Given the description of an element on the screen output the (x, y) to click on. 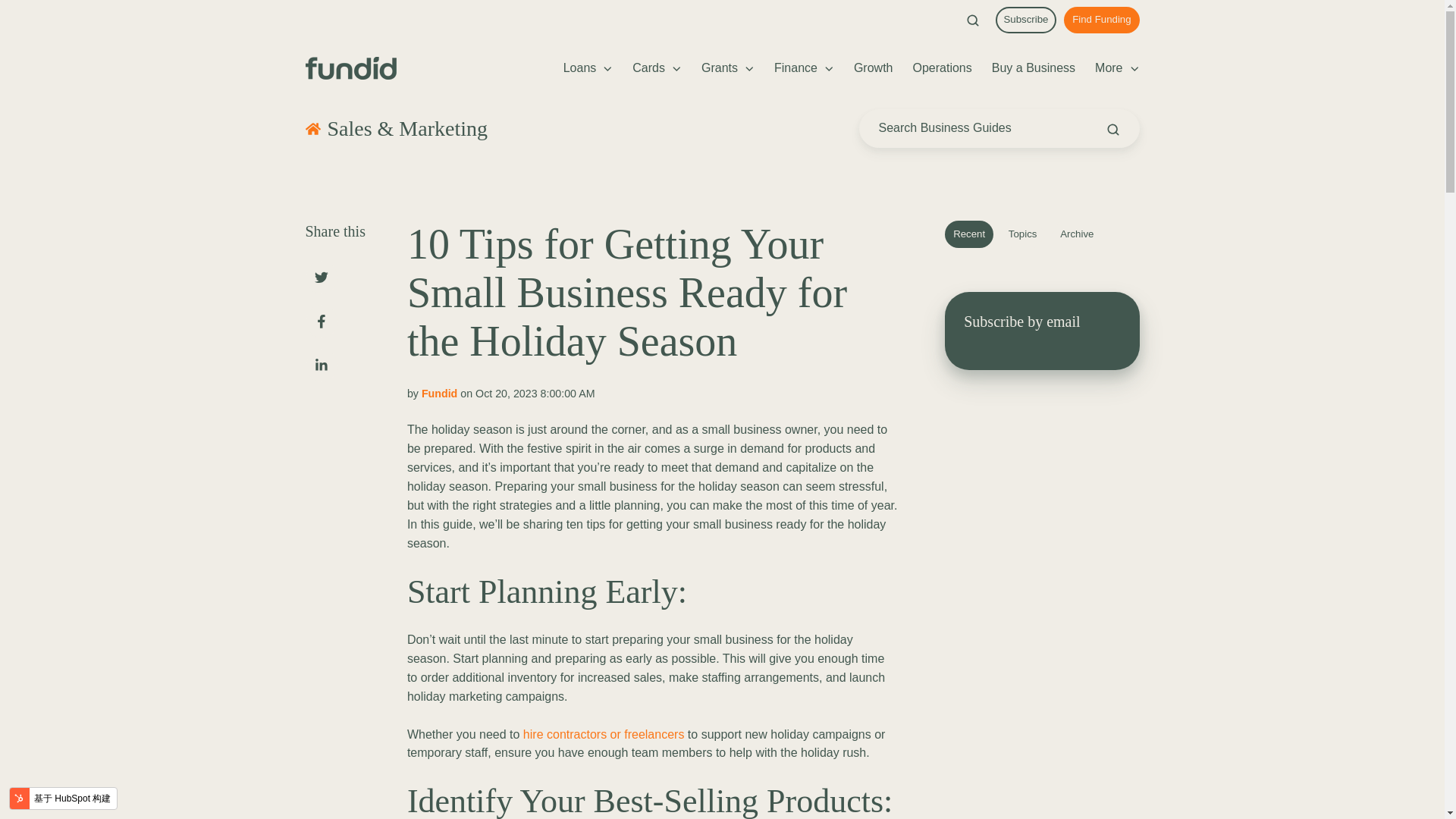
Loans (587, 68)
Find Funding (1101, 19)
Fundid (350, 67)
Cards (656, 68)
Subscribe (1026, 19)
